Given the description of an element on the screen output the (x, y) to click on. 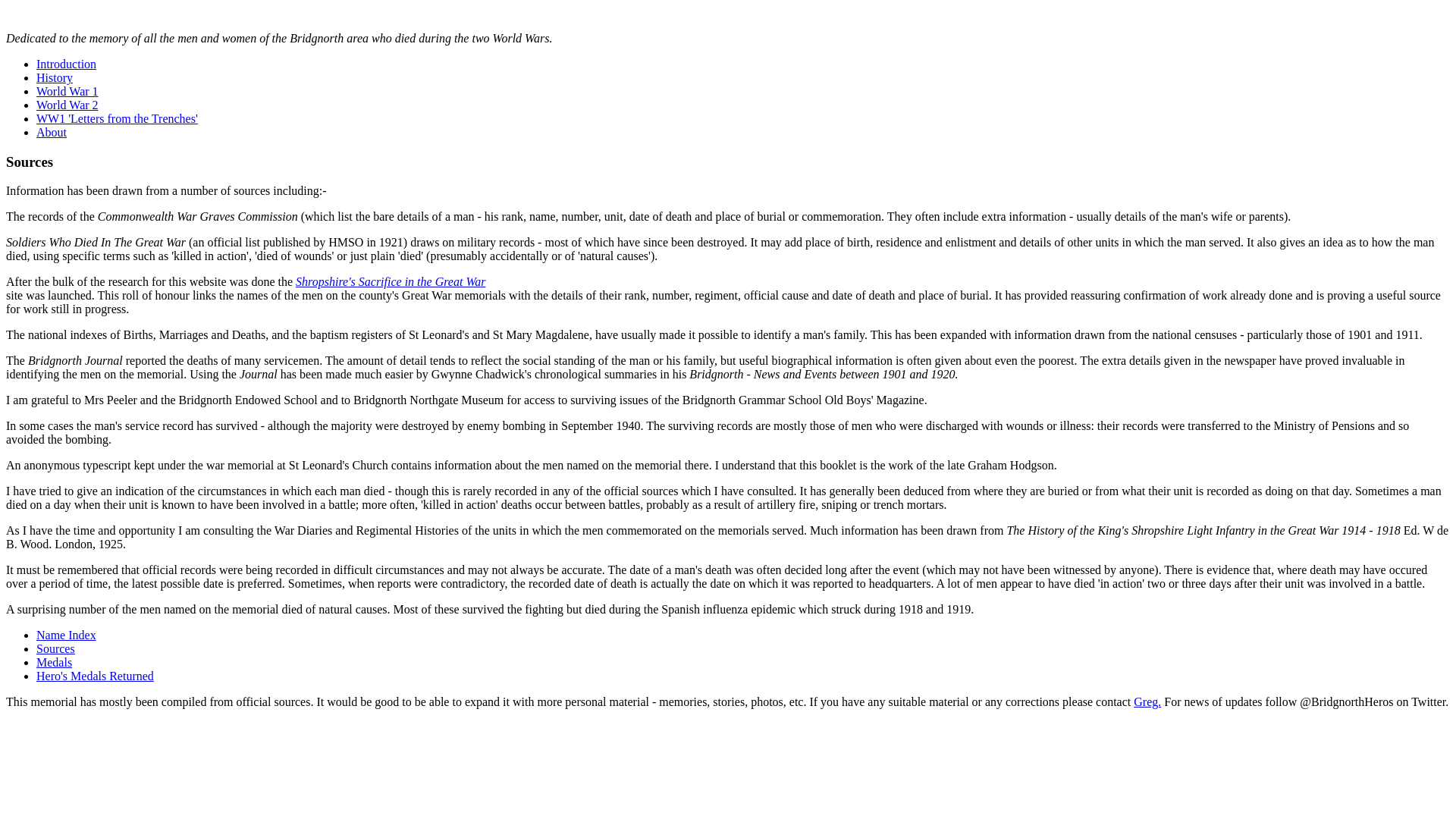
History (54, 77)
Introduction (66, 63)
Shropshire's Sacrifice in the Great War (389, 281)
Sources (55, 648)
Name Index (66, 634)
World War 2 (67, 104)
World War 1 (67, 91)
About (51, 132)
Medals (53, 662)
WW1 'Letters from the Trenches' (117, 118)
Hero's Medals Returned (95, 675)
